Given the description of an element on the screen output the (x, y) to click on. 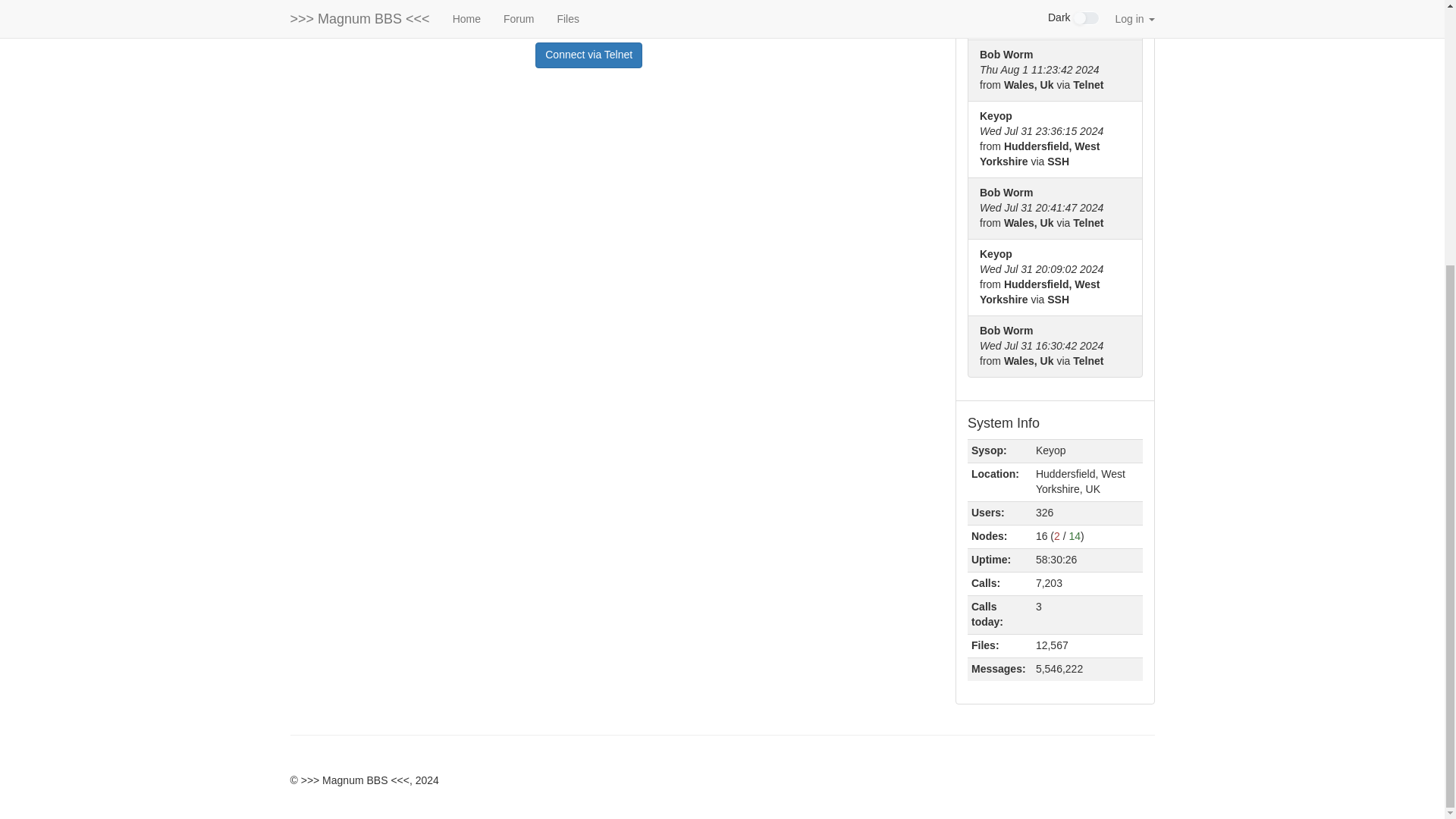
Connect via Telnet (588, 54)
Available (1074, 535)
